Given the description of an element on the screen output the (x, y) to click on. 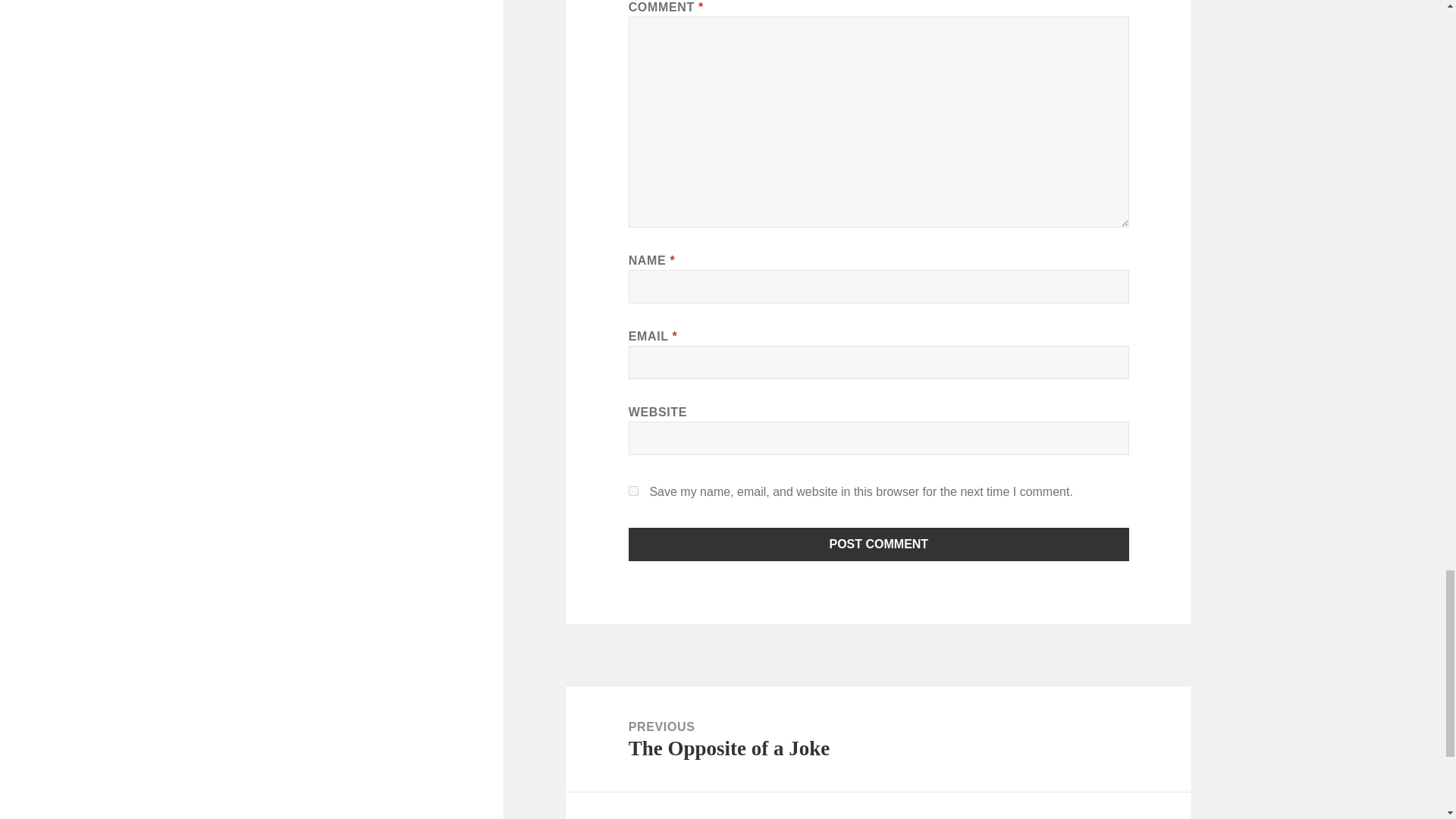
yes (878, 738)
Post Comment (633, 491)
Post Comment (878, 805)
